Given the description of an element on the screen output the (x, y) to click on. 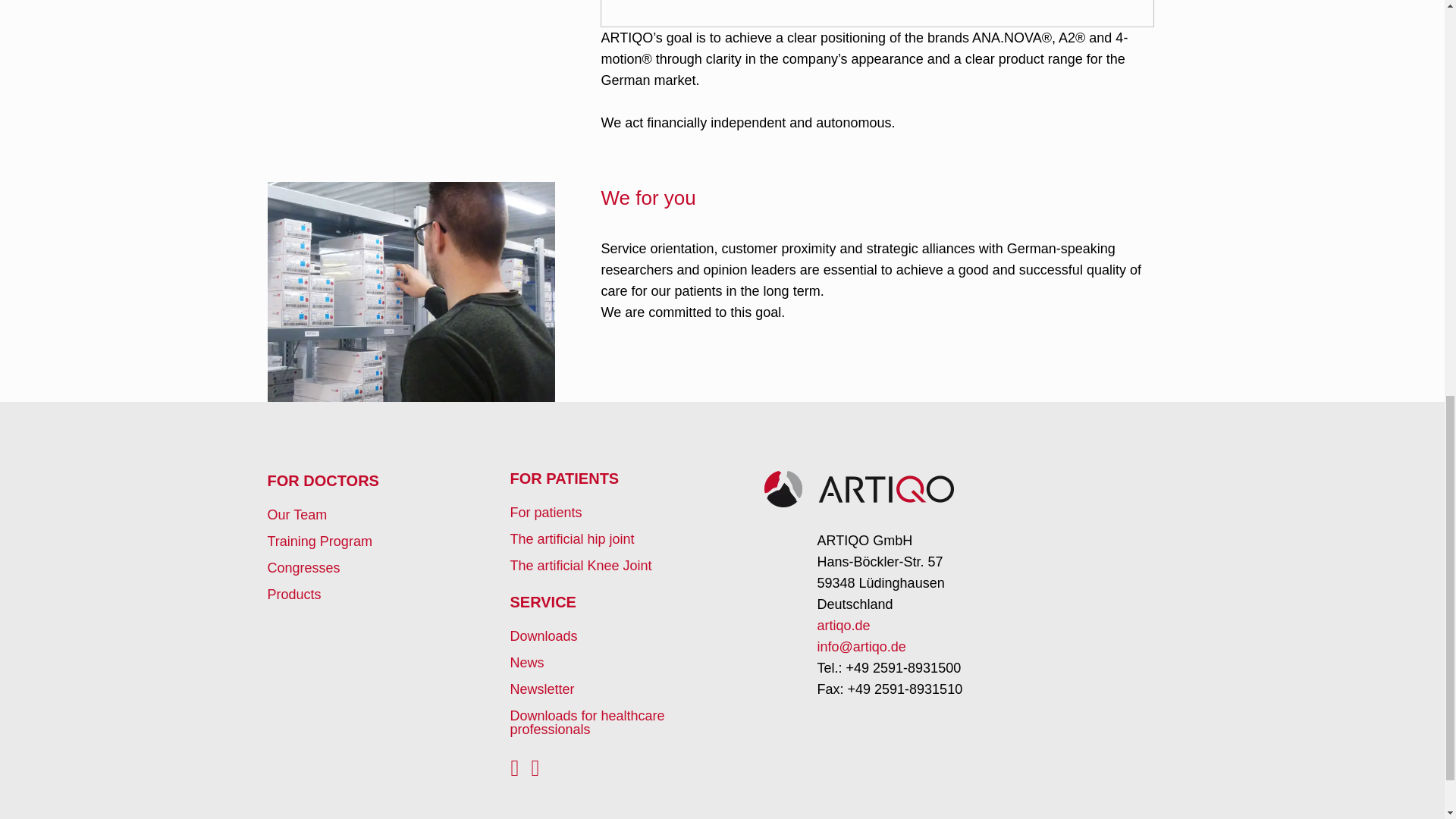
employee (410, 291)
